Given the description of an element on the screen output the (x, y) to click on. 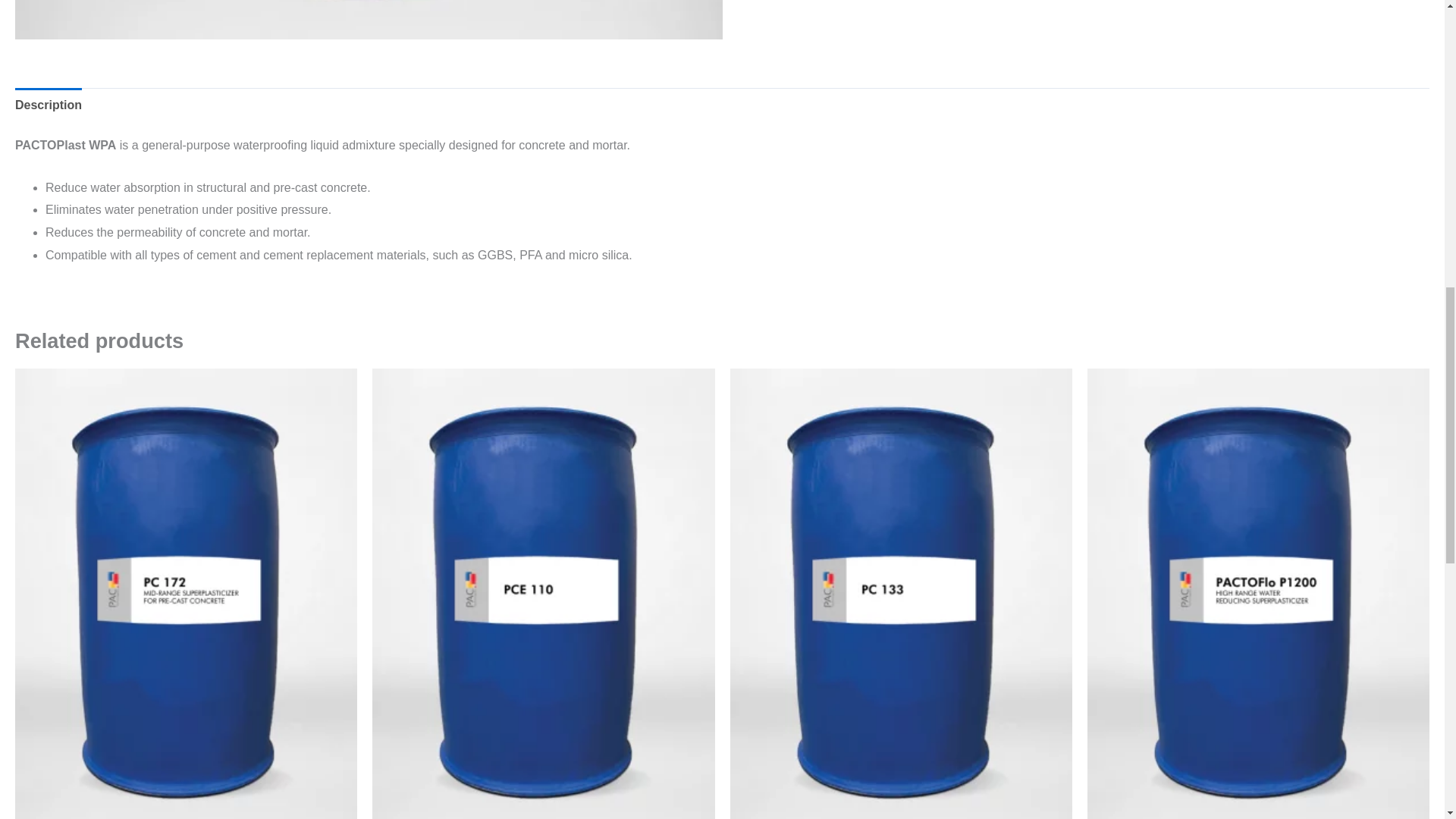
Description (47, 104)
WPA (368, 19)
